Given the description of an element on the screen output the (x, y) to click on. 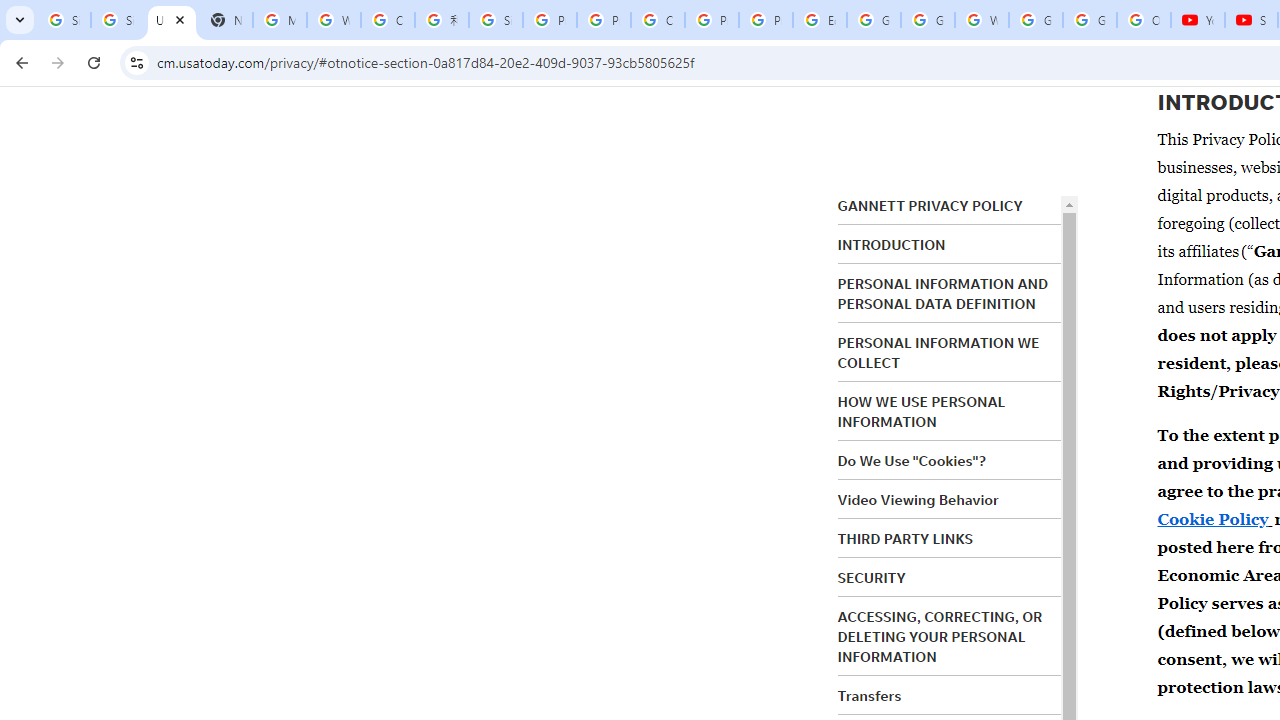
Cookie Policy (1212, 519)
Search tabs (20, 20)
INTRODUCTION (891, 245)
THIRD PARTY LINKS (905, 538)
Google Account (1089, 20)
ACCESSING, CORRECTING, OR DELETING YOUR PERSONAL INFORMATION (940, 636)
Welcome to My Activity (981, 20)
Create your Google Account (657, 20)
Who is my administrator? - Google Account Help (333, 20)
Sign in - Google Accounts (495, 20)
Forward (57, 62)
